Given the description of an element on the screen output the (x, y) to click on. 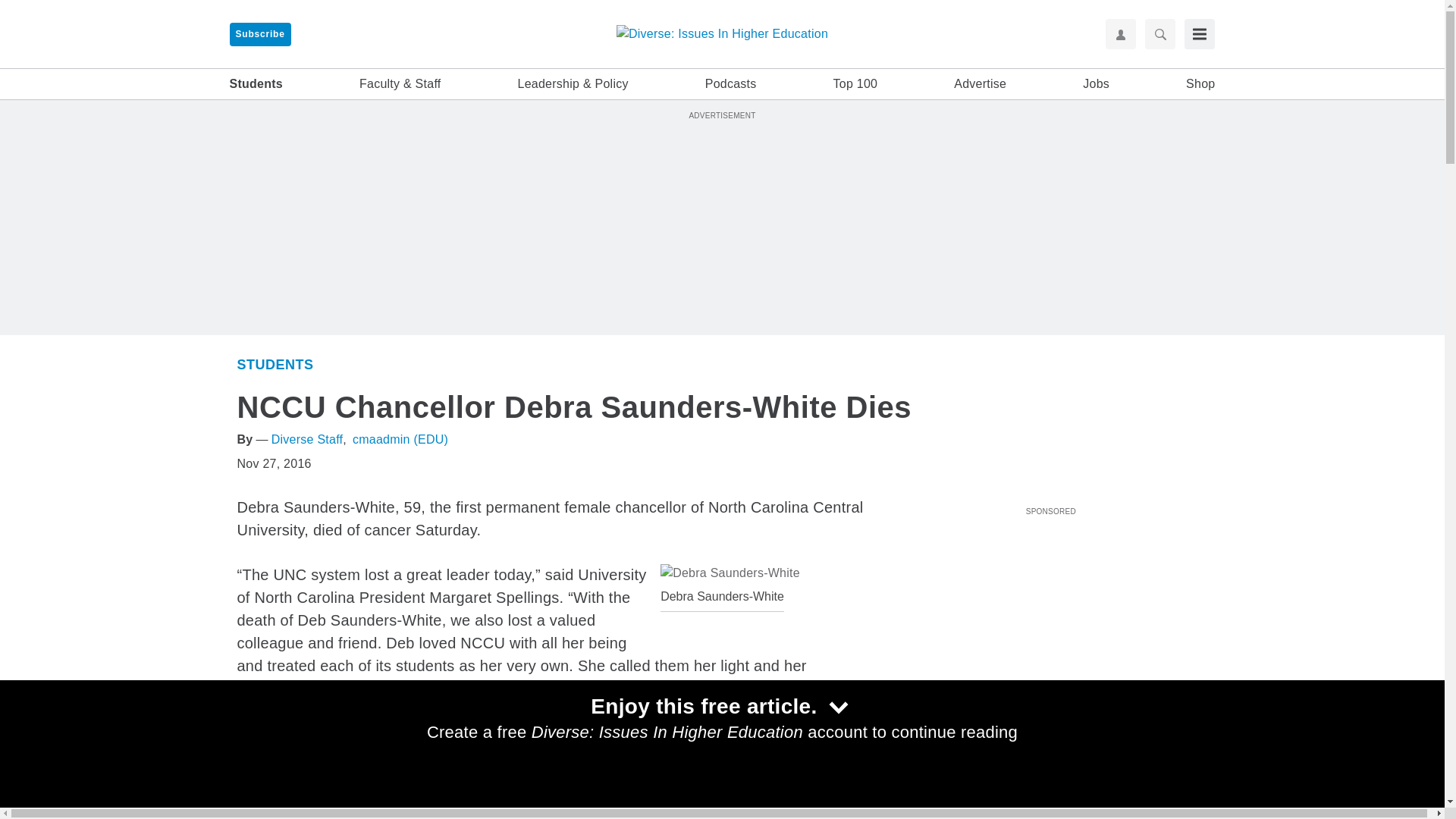
Students (255, 84)
Shop (1200, 84)
Jobs (1096, 84)
Top 100 (854, 84)
Students (923, 777)
Advertise (979, 84)
Students (274, 364)
Subscribe (258, 33)
Podcasts (730, 84)
Youtube Player (1050, 606)
